Given the description of an element on the screen output the (x, y) to click on. 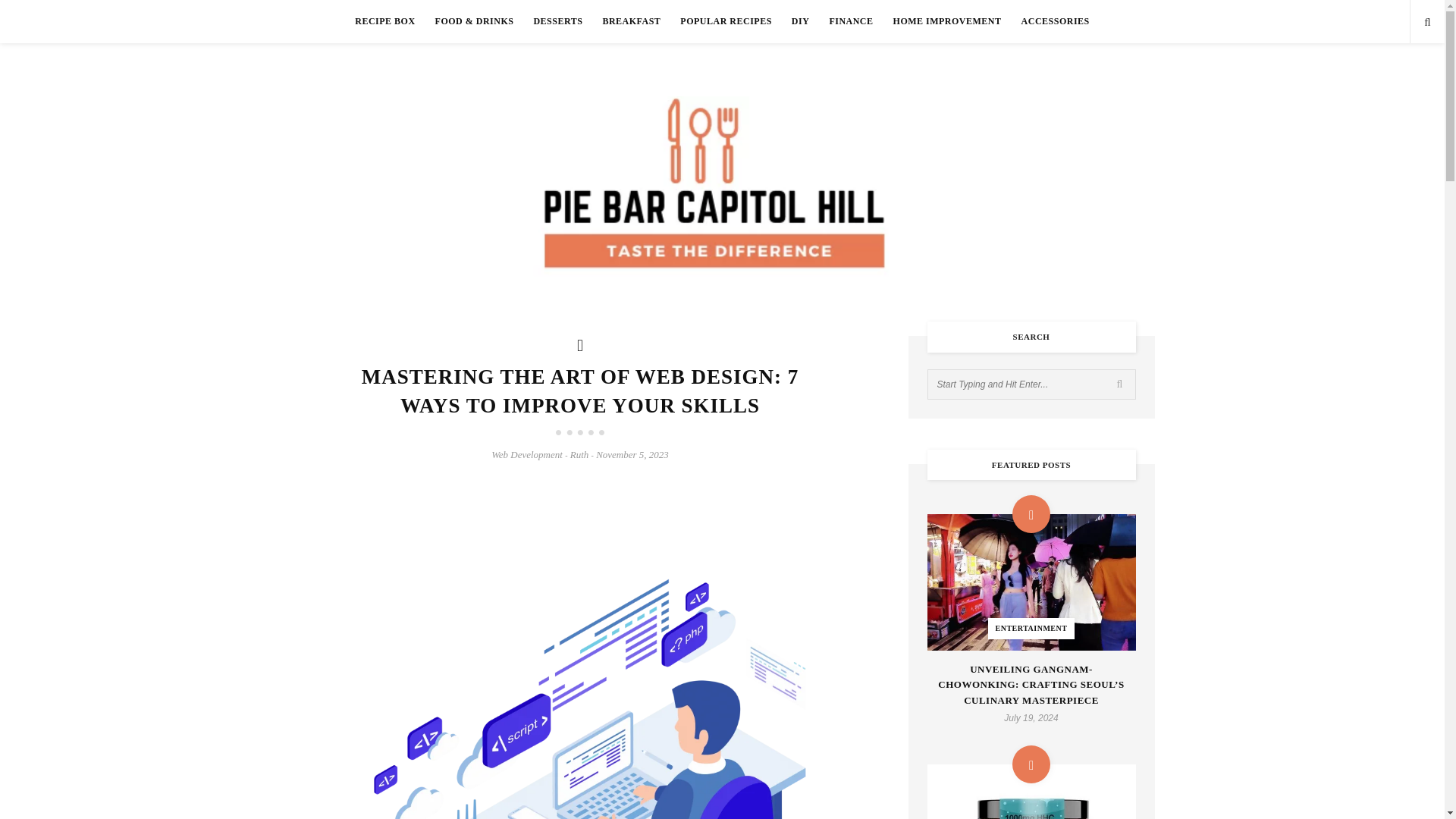
HOME IMPROVEMENT (947, 21)
BREAKFAST (630, 21)
DESSERTS (557, 21)
POPULAR RECIPES (725, 21)
Permanent Link: Exploring The Potential Of HHC Gummies (1030, 791)
FINANCE (850, 21)
ENTERTAINMENT (1030, 582)
RECIPE BOX (385, 21)
CBD (1030, 791)
Web Development (527, 454)
ACCESSORIES (1055, 21)
